Given the description of an element on the screen output the (x, y) to click on. 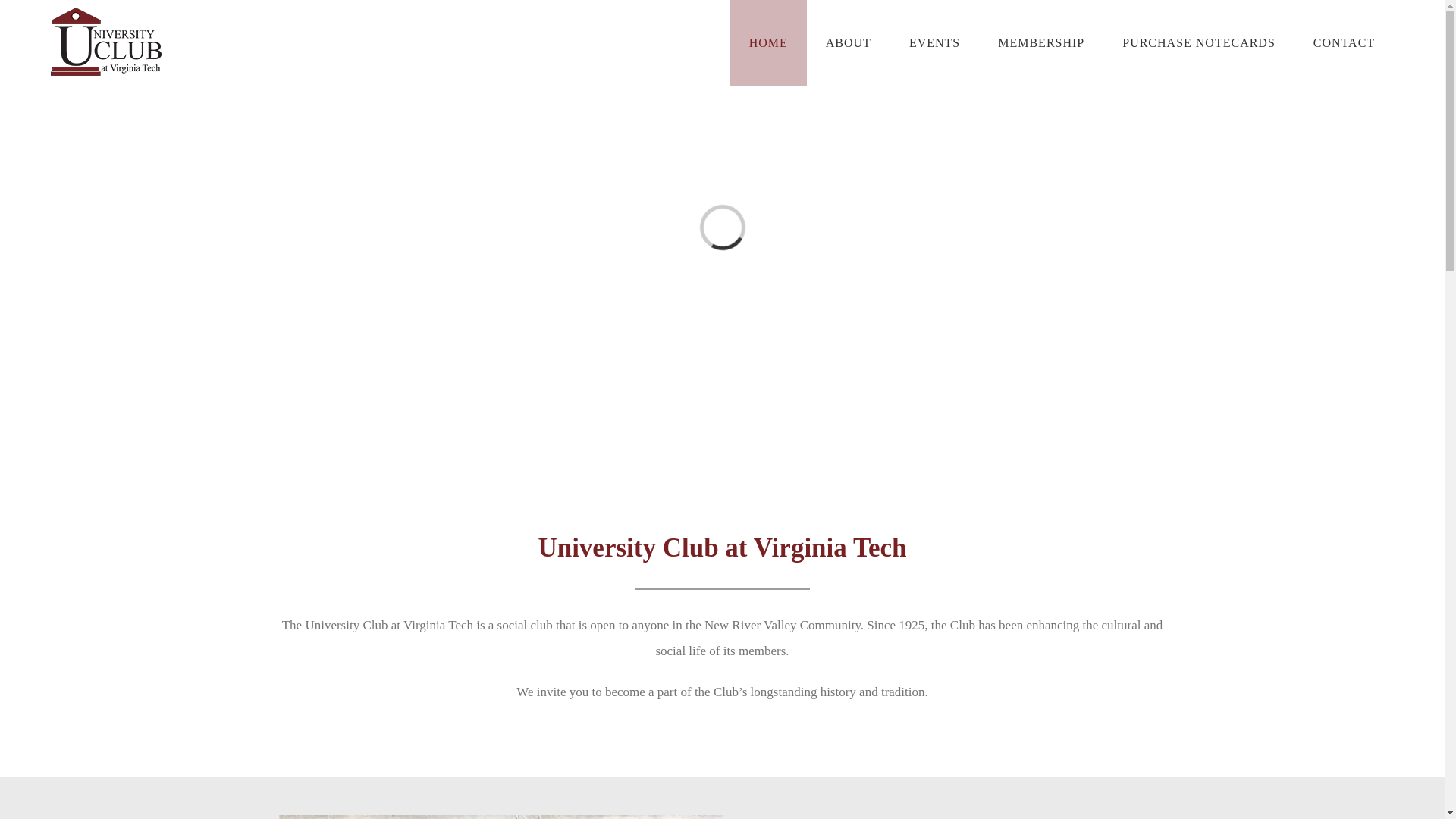
ABOUT (847, 42)
MEMBERSHIP (1040, 42)
HOME (768, 42)
CONTACT (1343, 42)
EVENTS (933, 42)
PURCHASE NOTECARDS (1198, 42)
